Given the description of an element on the screen output the (x, y) to click on. 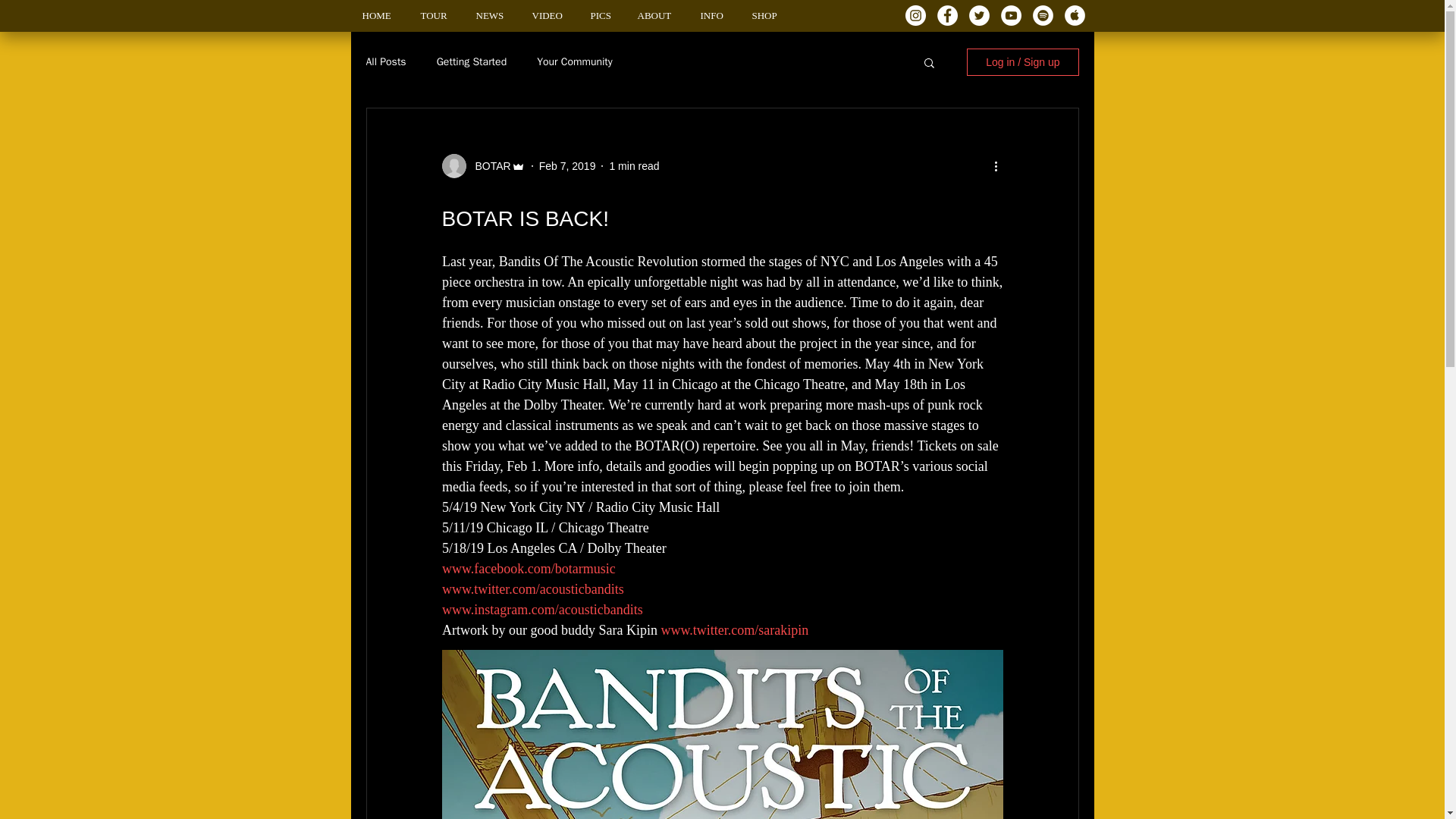
Feb 7, 2019 (566, 164)
NEWS (491, 15)
VIDEO (548, 15)
HOME (379, 15)
ABOUT (657, 15)
BOTAR (488, 165)
TOUR (436, 15)
Your Community (574, 61)
PICS (602, 15)
1 min read (633, 164)
Getting Started (471, 61)
All Posts (385, 61)
INFO (713, 15)
SHOP (766, 15)
